Given the description of an element on the screen output the (x, y) to click on. 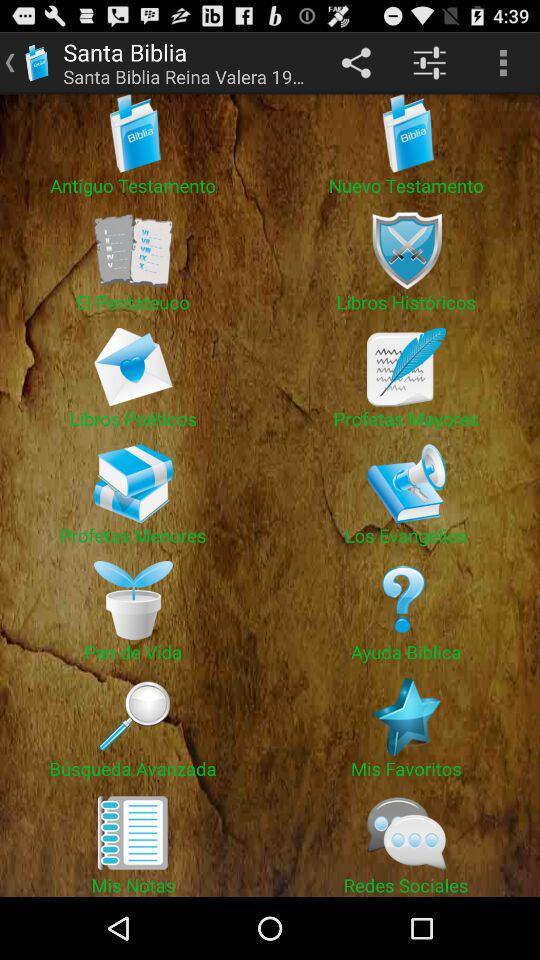
the  label above ayuda biblica (406, 600)
